Given the description of an element on the screen output the (x, y) to click on. 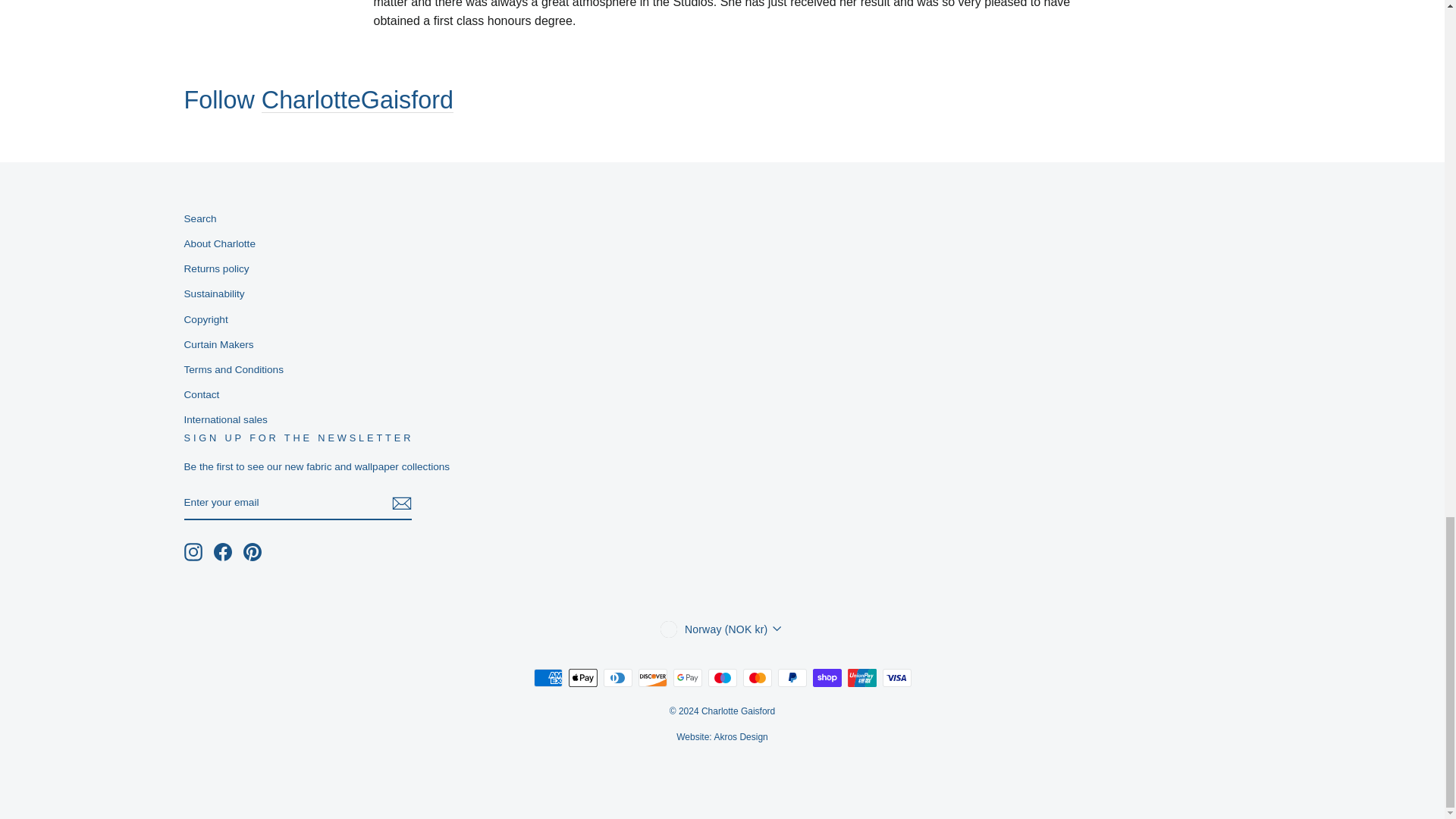
instagram (192, 551)
Charlotte Gaisford on Pinterest (251, 551)
Charlotte Gaisford on Instagram (192, 551)
Maestro (721, 678)
Google Pay (686, 678)
Diners Club (617, 678)
Discover (652, 678)
American Express (548, 678)
Apple Pay (582, 678)
icon-email (400, 503)
